Given the description of an element on the screen output the (x, y) to click on. 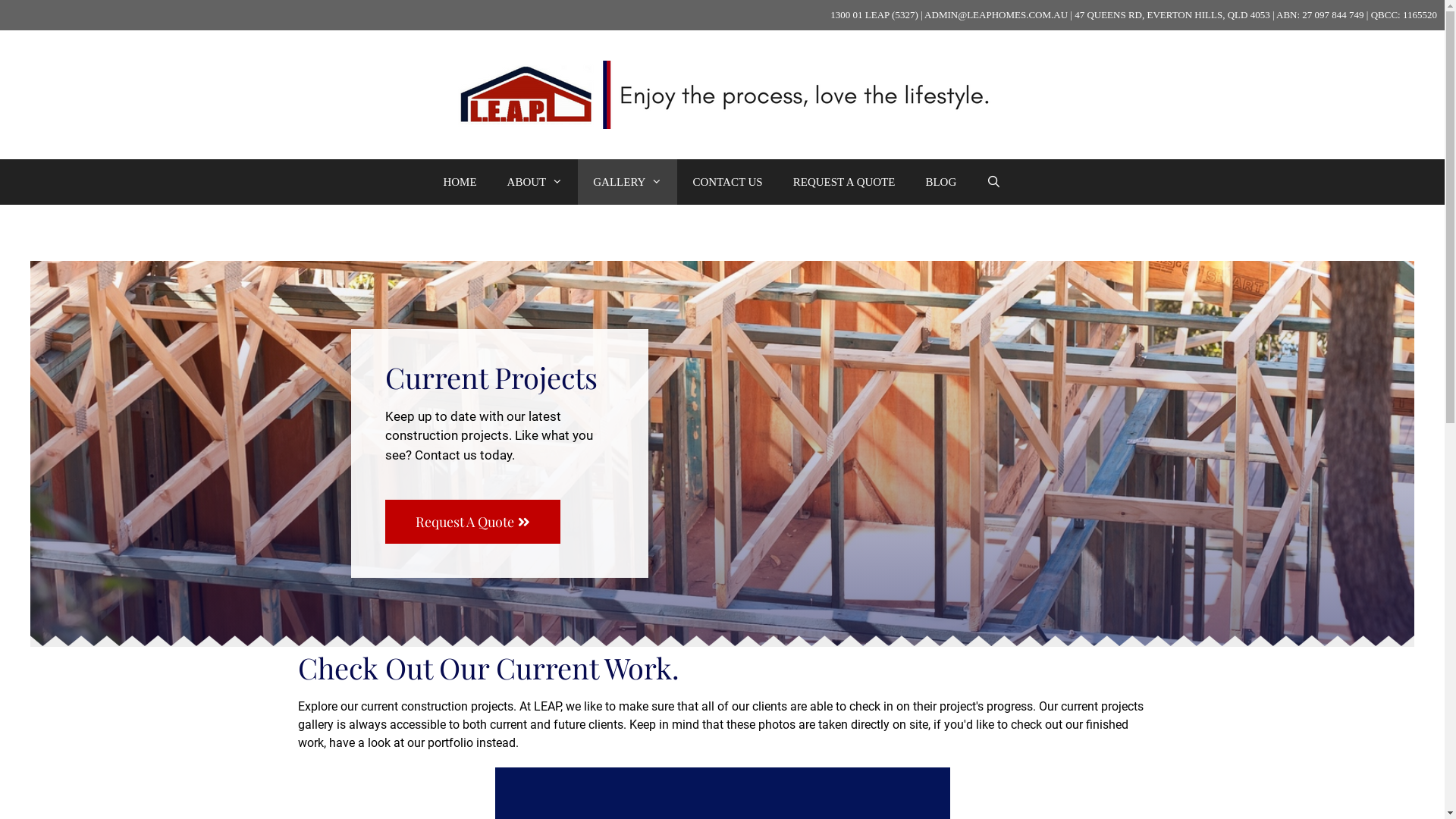
CONTACT US Element type: text (727, 181)
HOME Element type: text (459, 181)
GALLERY Element type: text (627, 181)
ABOUT Element type: text (535, 181)
REQUEST A QUOTE Element type: text (844, 181)
Request A Quote Element type: text (472, 520)
BLOG Element type: text (940, 181)
